Given the description of an element on the screen output the (x, y) to click on. 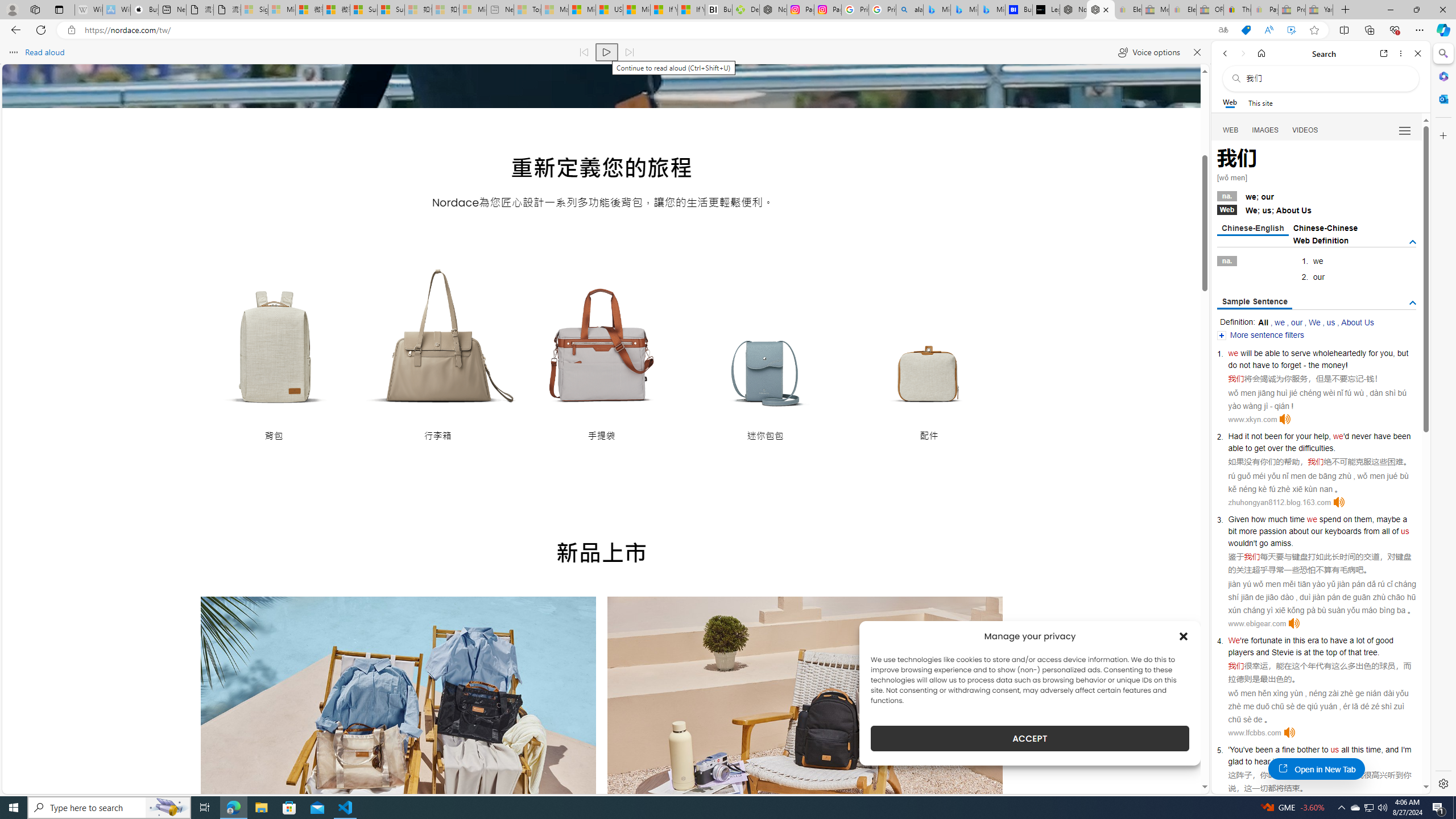
spend (1329, 519)
Chinese-Chinese (1325, 227)
Yard, Garden & Outdoor Living - Sleeping (1319, 9)
fortunate (1266, 640)
maybe (1387, 519)
